Given the description of an element on the screen output the (x, y) to click on. 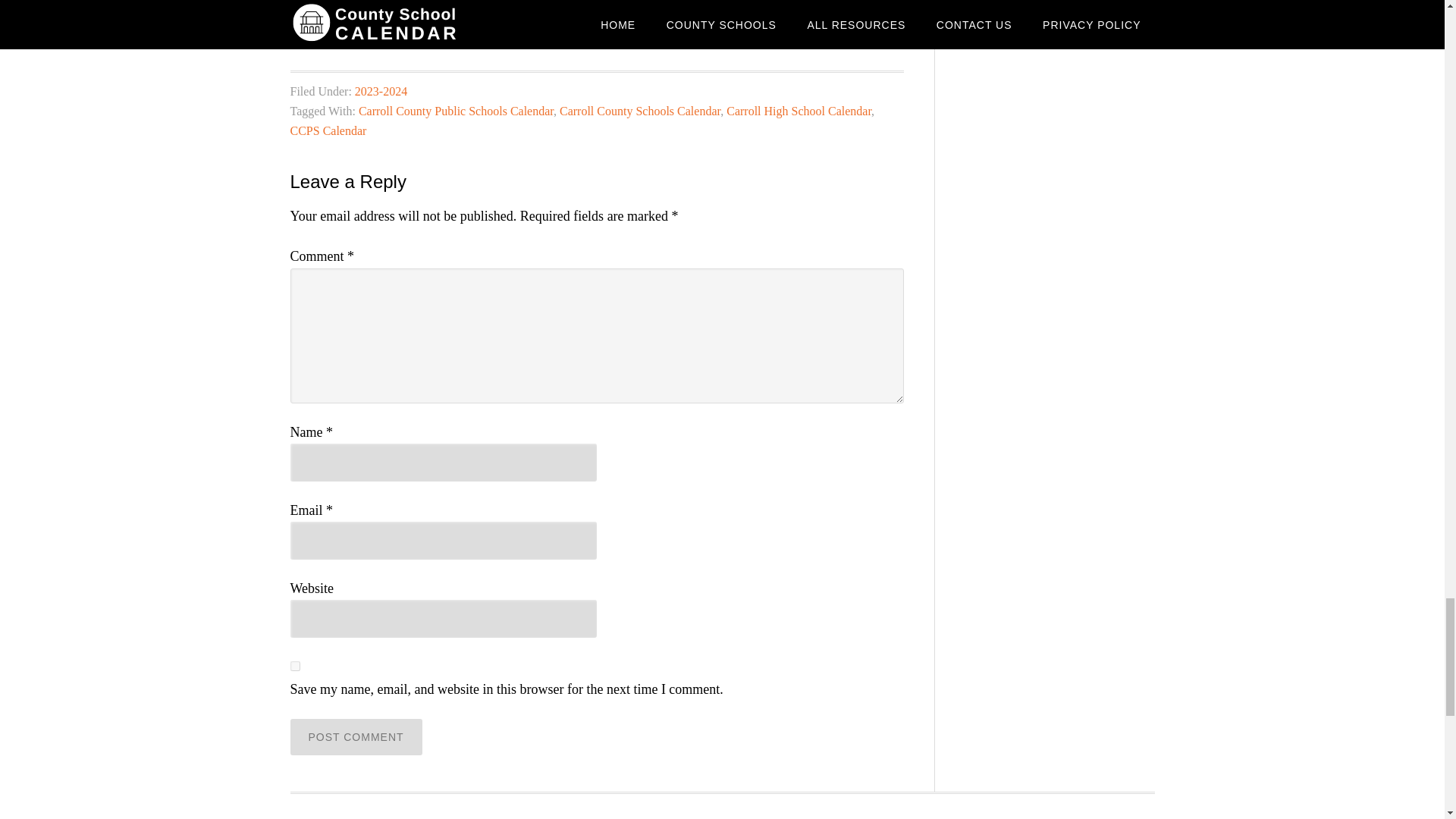
Post Comment (355, 737)
yes (294, 665)
